Given the description of an element on the screen output the (x, y) to click on. 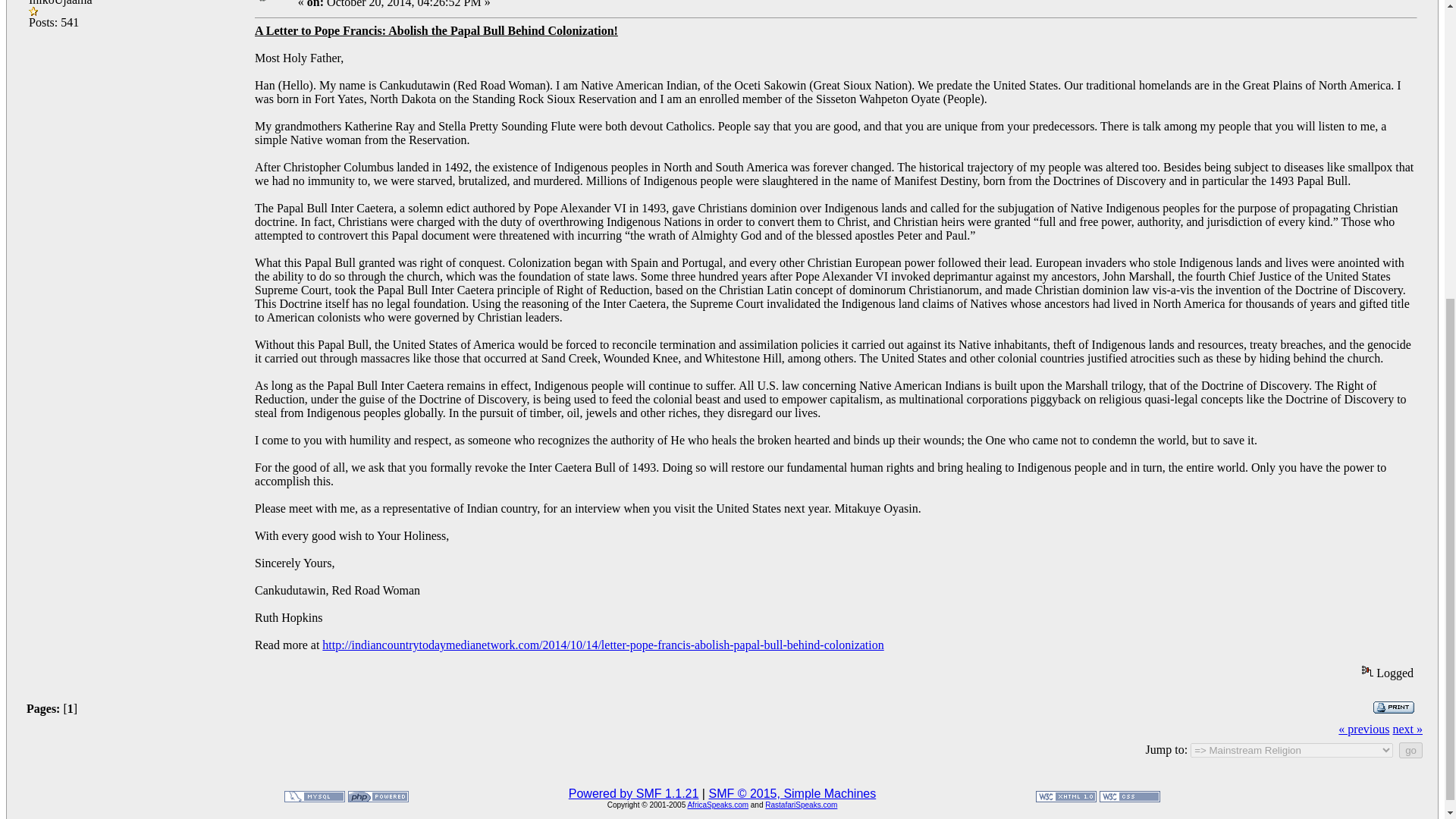
Simple Machines Forum (633, 793)
Free Forum Software (791, 793)
go (1410, 750)
